Given the description of an element on the screen output the (x, y) to click on. 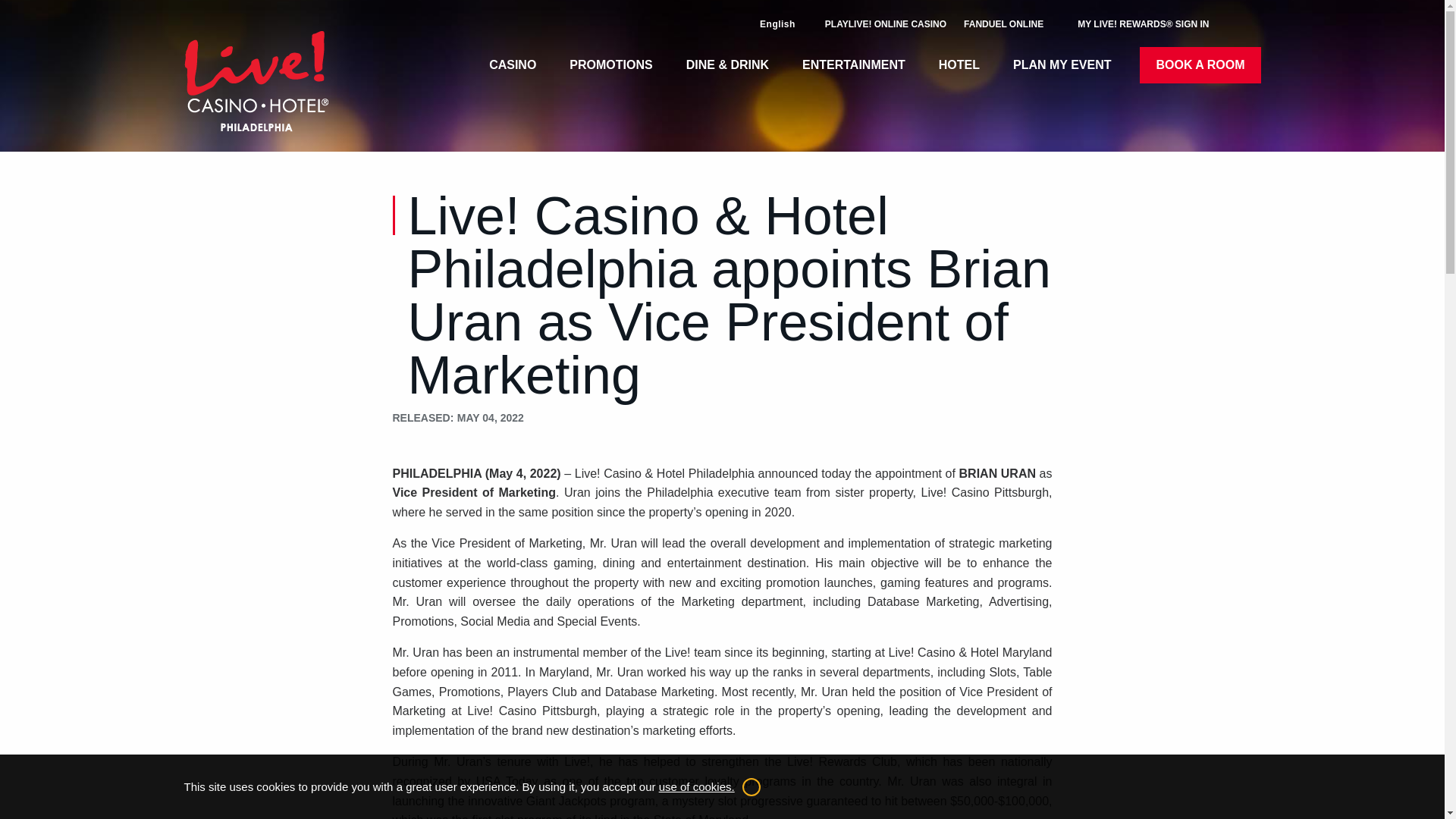
FANDUEL ONLINE (1003, 23)
English (778, 24)
PLAYLIVE! ONLINE CASINO (885, 23)
FanDuel Online (1003, 23)
use of cookies. (697, 786)
